Given the description of an element on the screen output the (x, y) to click on. 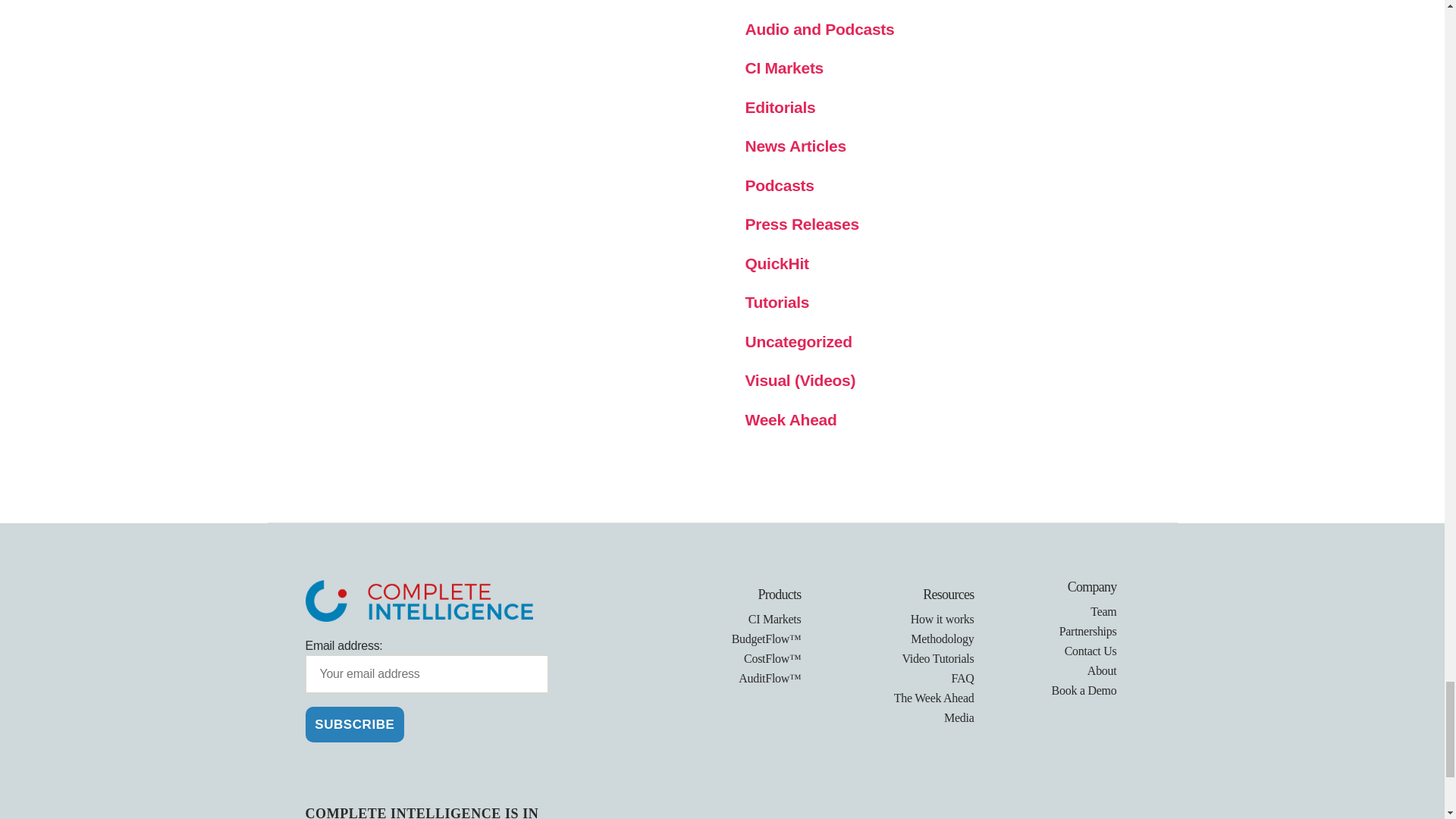
Subscribe (354, 724)
